Given the description of an element on the screen output the (x, y) to click on. 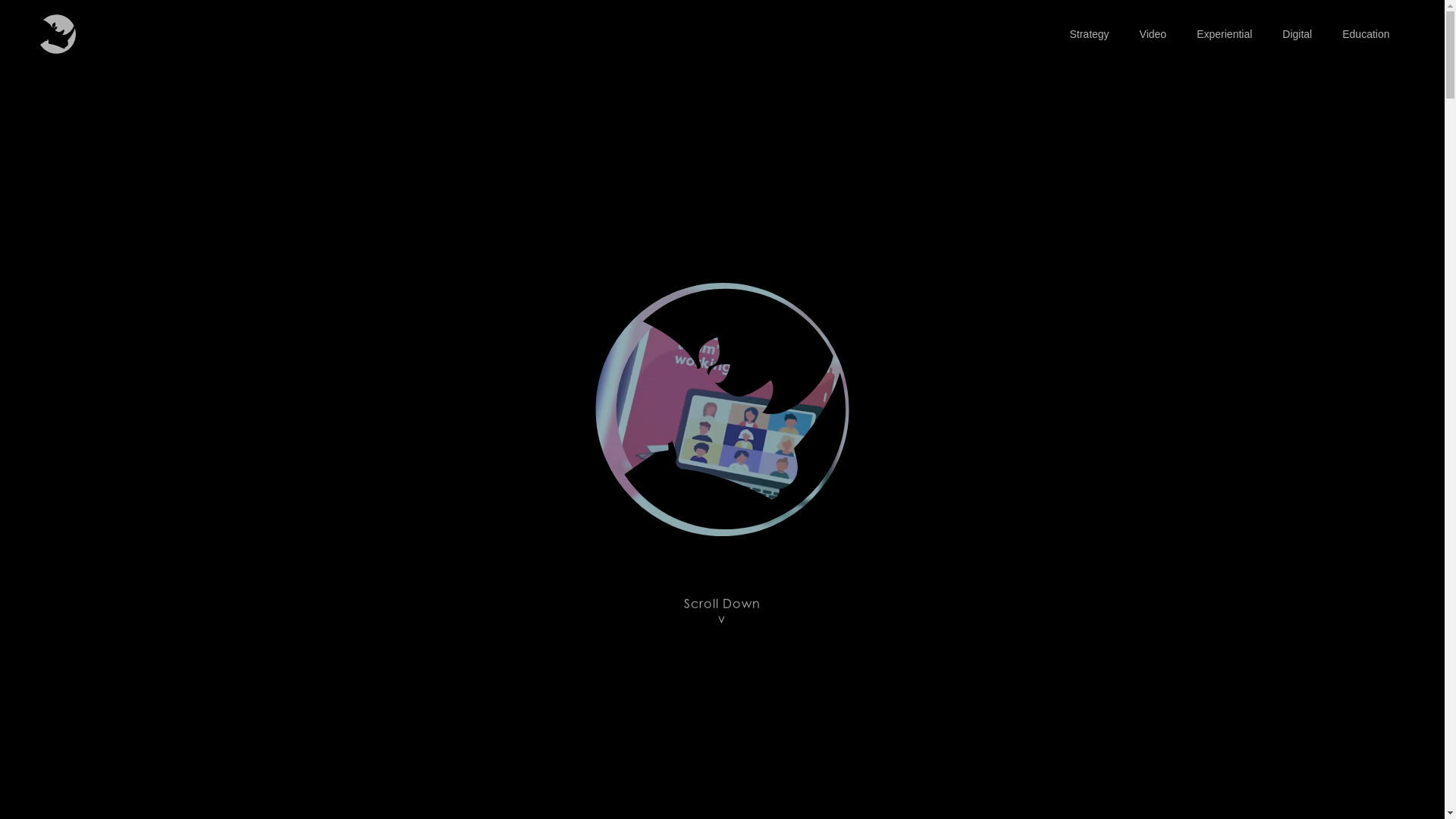
Strategy Element type: text (1088, 33)
Digital Element type: text (1297, 33)
Experiential Element type: text (1224, 33)
Education Element type: text (1365, 33)
Video Element type: text (1153, 33)
